Given the description of an element on the screen output the (x, y) to click on. 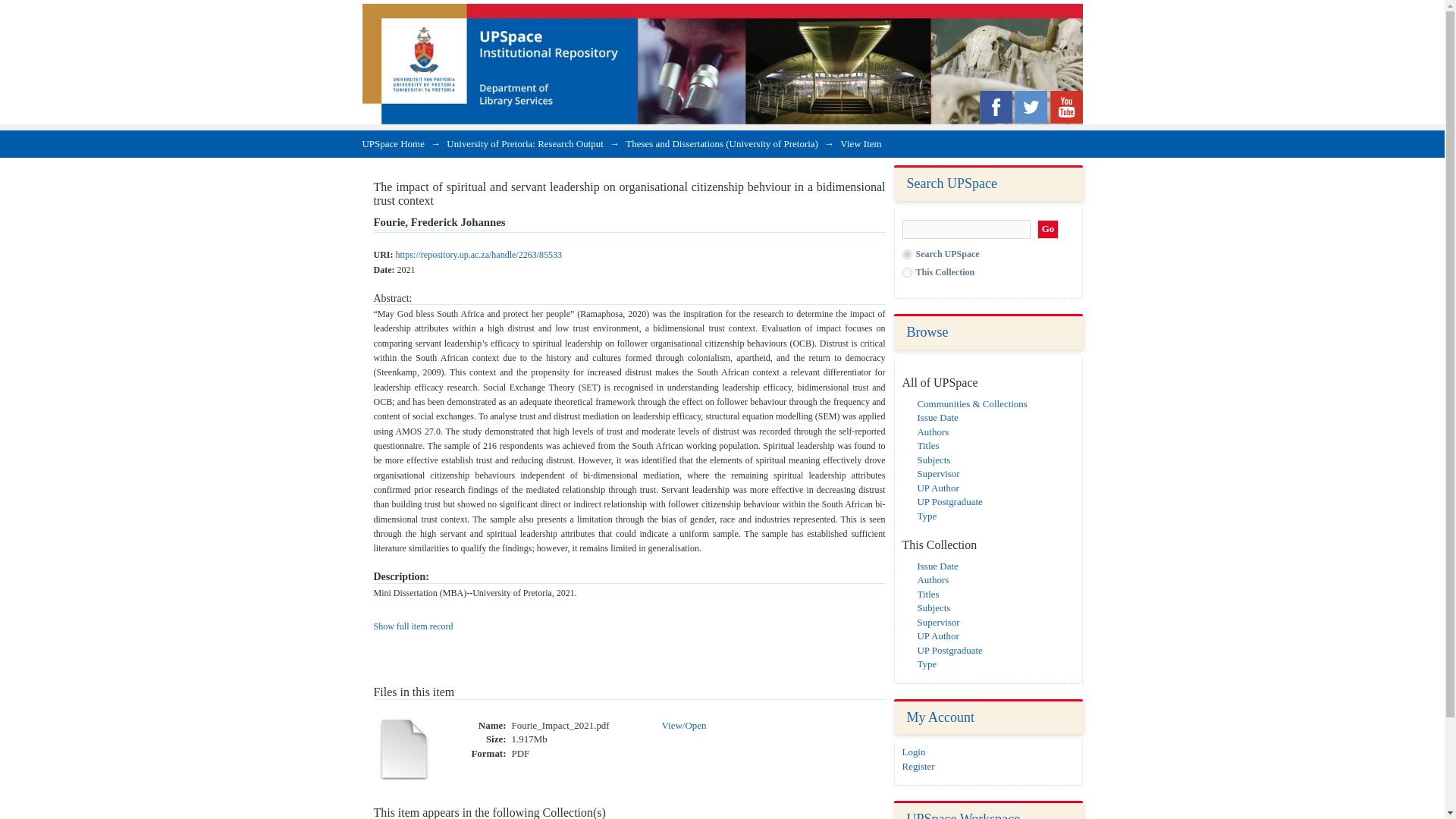
Supervisor (938, 622)
UPSpace Home (393, 143)
Go (1047, 229)
Subjects (933, 459)
Type (927, 514)
Supervisor (938, 473)
UPSpace Workspace (963, 815)
Authors (933, 431)
Go (1047, 229)
UP Author (938, 487)
University of Pretoria: Research Output (524, 143)
Authors (933, 579)
Type (927, 663)
Titles (928, 593)
Issue Date (937, 417)
